Given the description of an element on the screen output the (x, y) to click on. 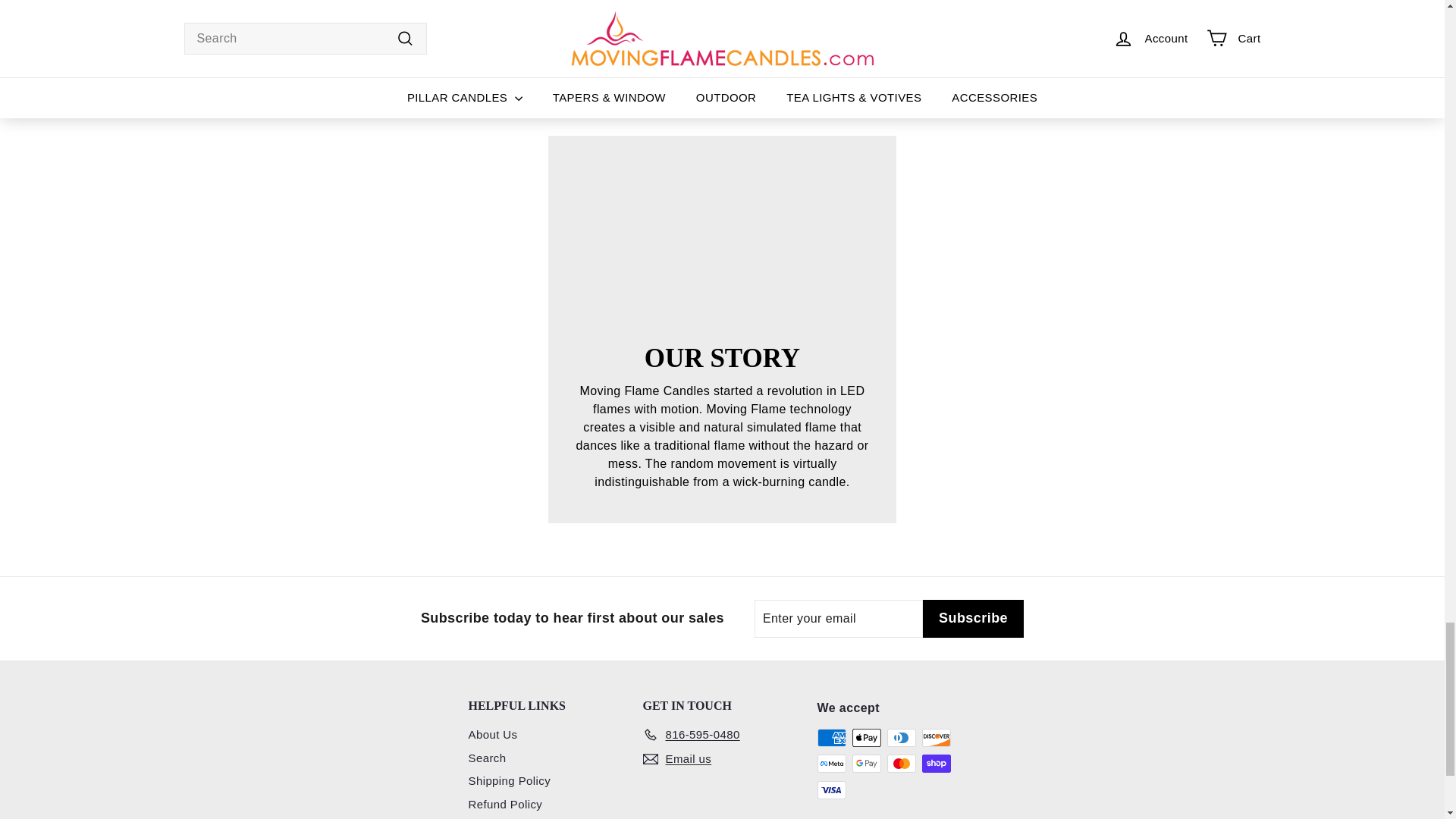
Discover (935, 737)
American Express (830, 737)
Shop Pay (935, 763)
Meta Pay (830, 763)
Diners Club (900, 737)
Apple Pay (865, 737)
Google Pay (865, 763)
Mastercard (900, 763)
